Given the description of an element on the screen output the (x, y) to click on. 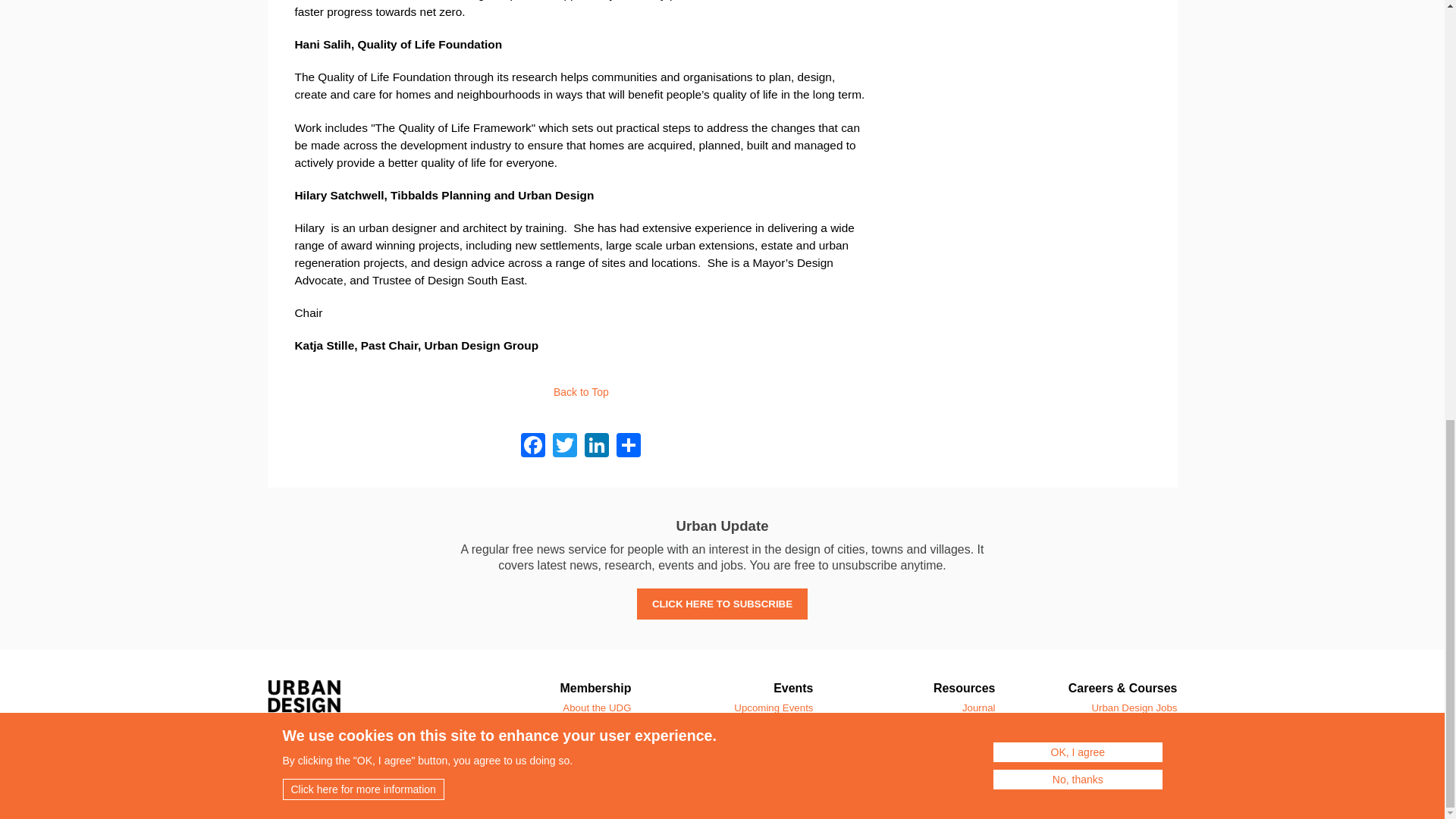
Back to Top (580, 391)
Twitter (564, 444)
Facebook (532, 444)
